Given the description of an element on the screen output the (x, y) to click on. 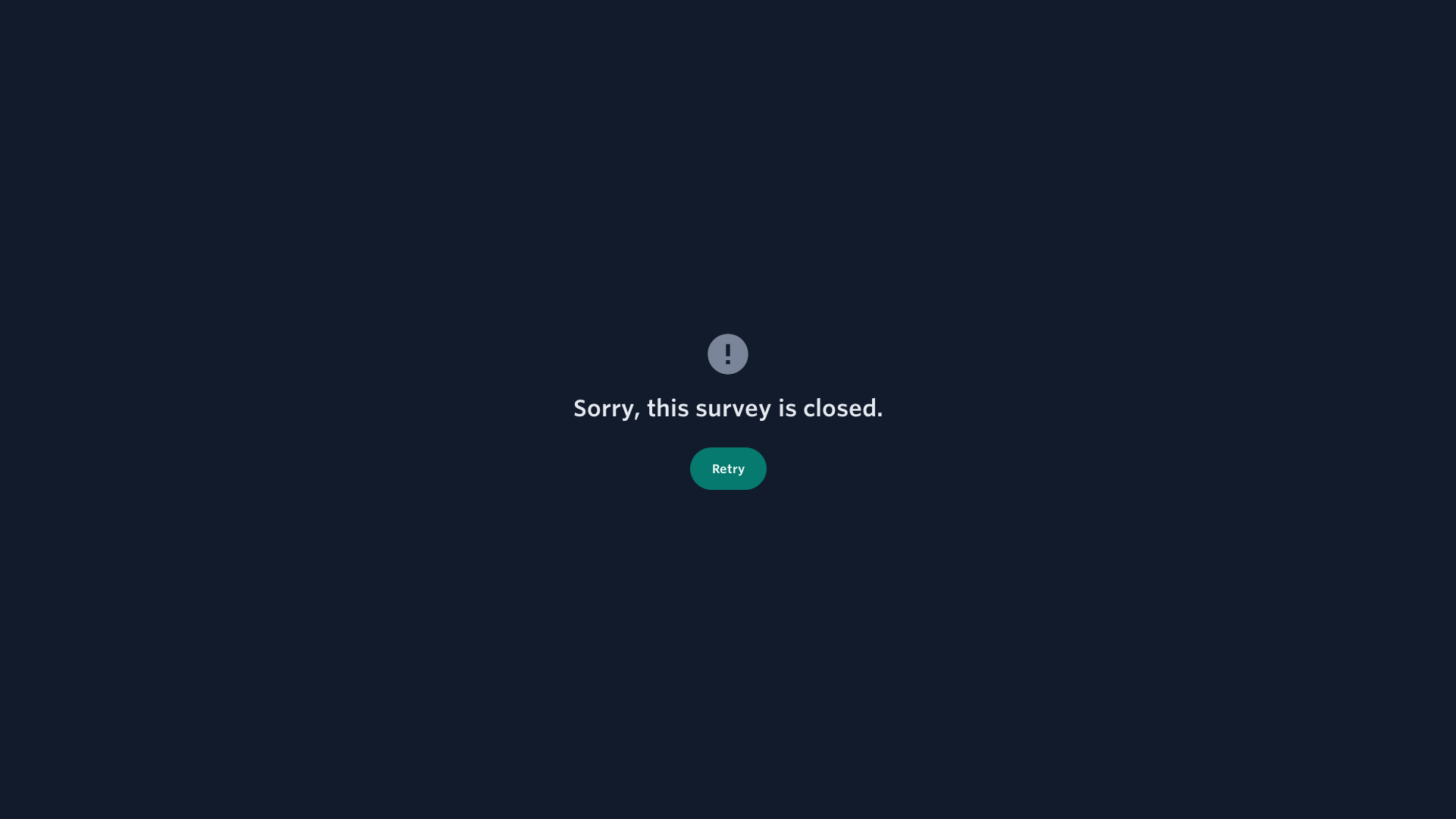
Retry Element type: text (728, 468)
